Given the description of an element on the screen output the (x, y) to click on. 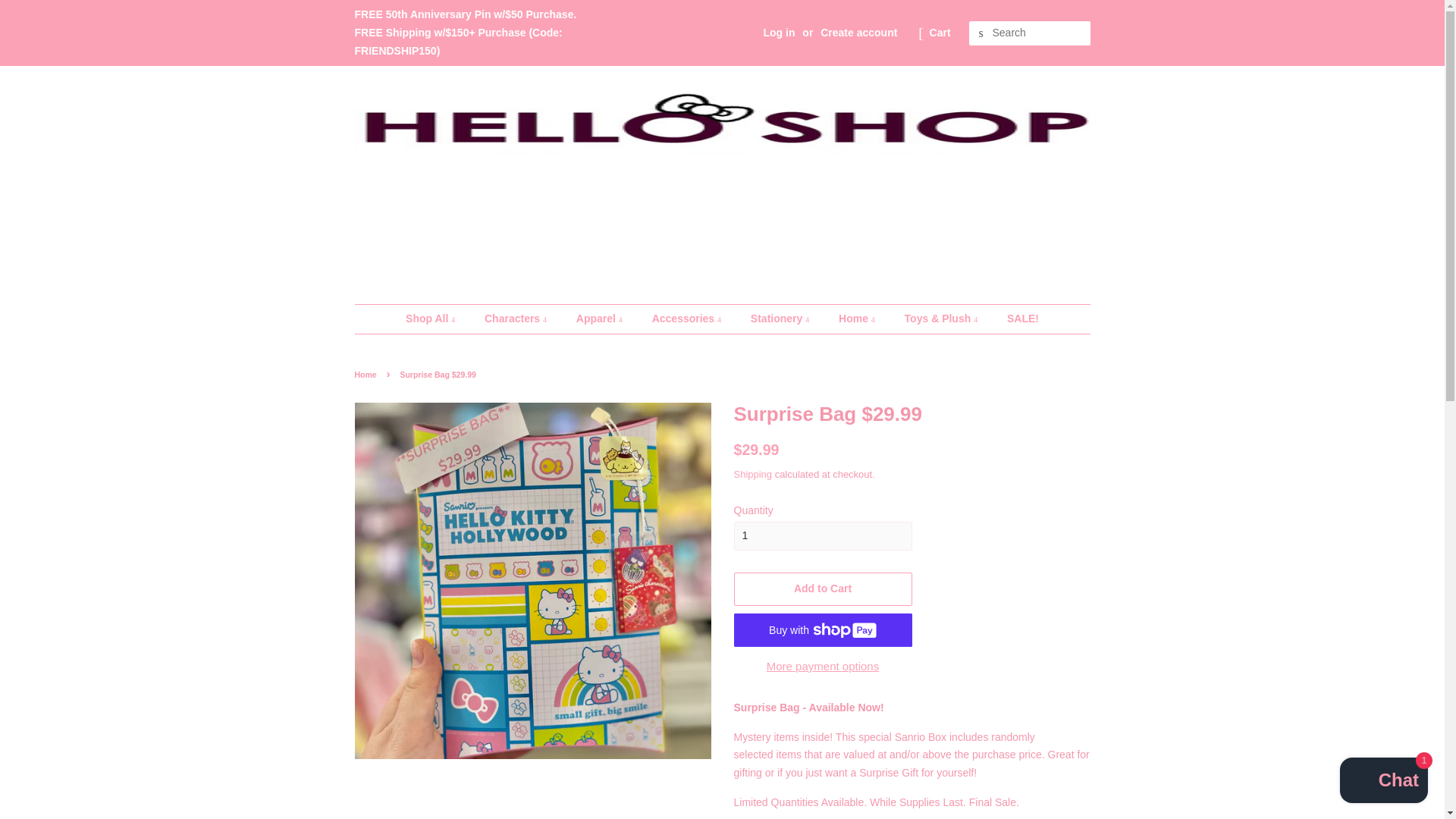
Create account (858, 32)
Back to the frontpage (367, 374)
Cart (940, 33)
Log in (778, 32)
Search (980, 33)
Shopify online store chat (1383, 781)
1 (822, 535)
